Given the description of an element on the screen output the (x, y) to click on. 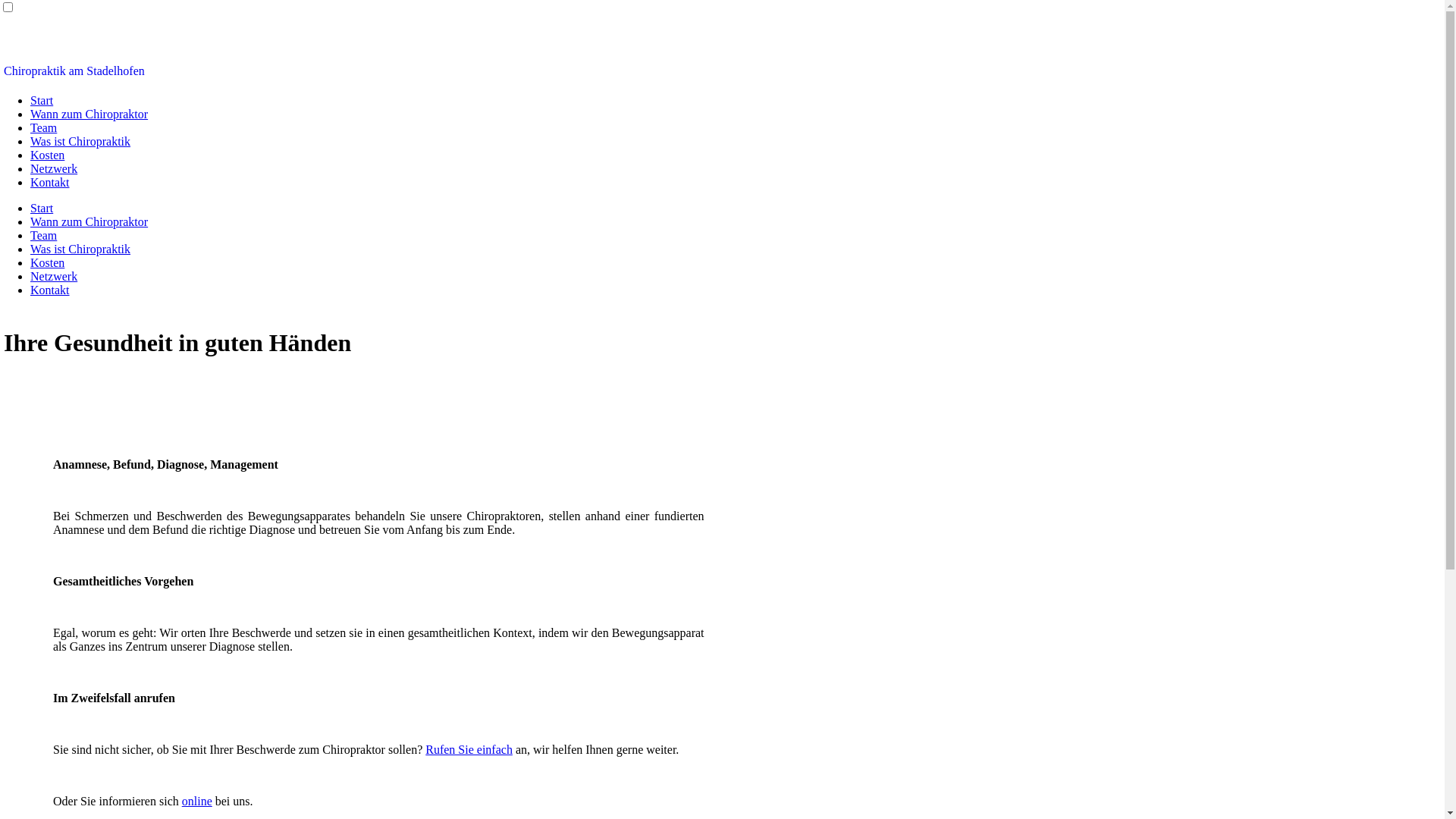
Netzwerk Element type: text (53, 275)
Rufen Sie einfach Element type: text (468, 749)
Kontakt Element type: text (49, 289)
Chiropraktik am Stadelhofen Element type: text (73, 70)
Kosten Element type: text (47, 154)
Wann zum Chiropraktor Element type: text (88, 221)
Kontakt Element type: text (49, 181)
Team Element type: text (43, 127)
Kosten Element type: text (47, 262)
Was ist Chiropraktik Element type: text (80, 140)
Netzwerk Element type: text (53, 168)
Start Element type: text (41, 207)
online Element type: text (197, 800)
Start Element type: text (41, 100)
Wann zum Chiropraktor Element type: text (88, 113)
Was ist Chiropraktik Element type: text (80, 248)
Team Element type: text (43, 235)
